Given the description of an element on the screen output the (x, y) to click on. 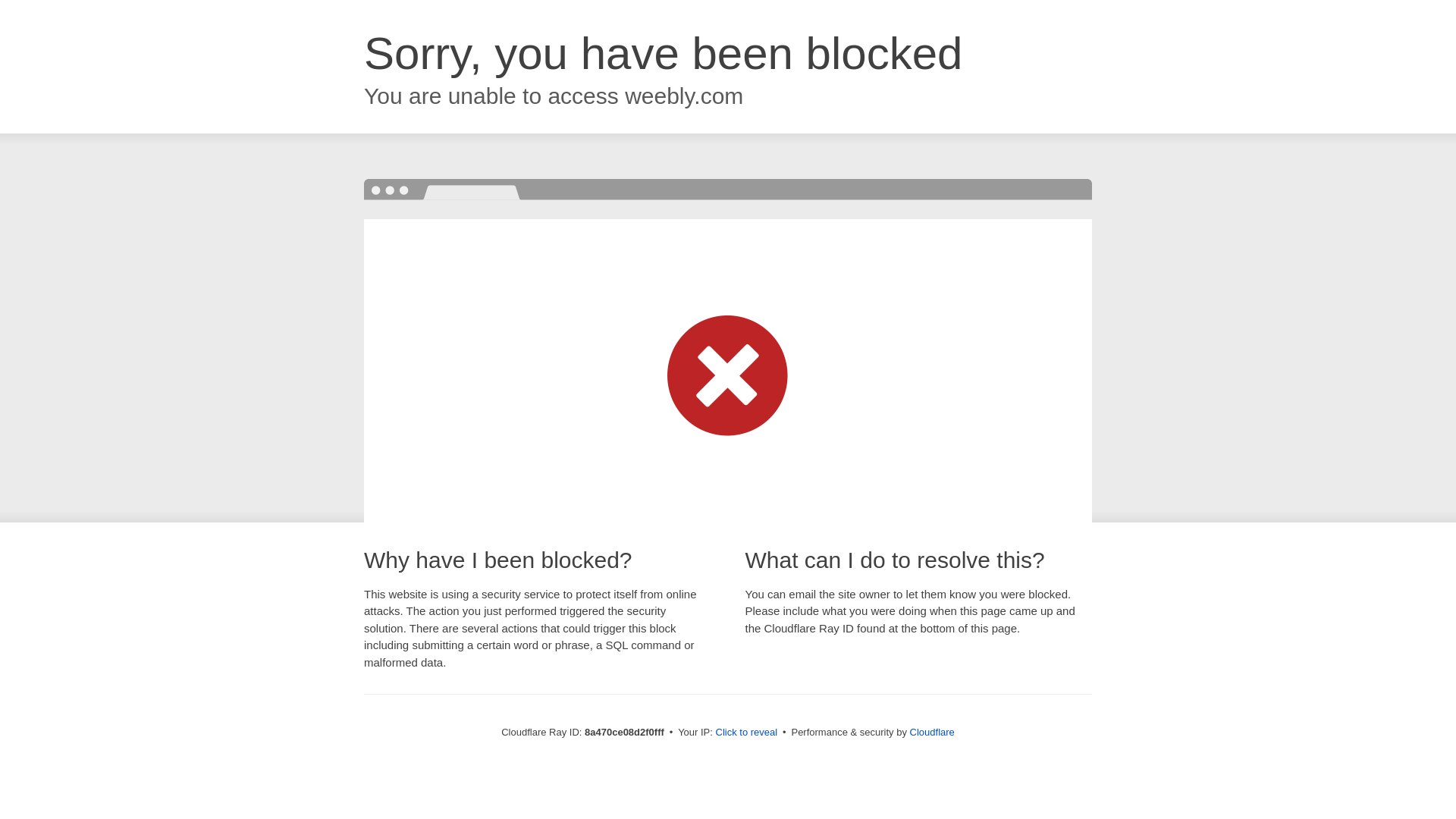
Cloudflare (932, 731)
Click to reveal (746, 732)
